Given the description of an element on the screen output the (x, y) to click on. 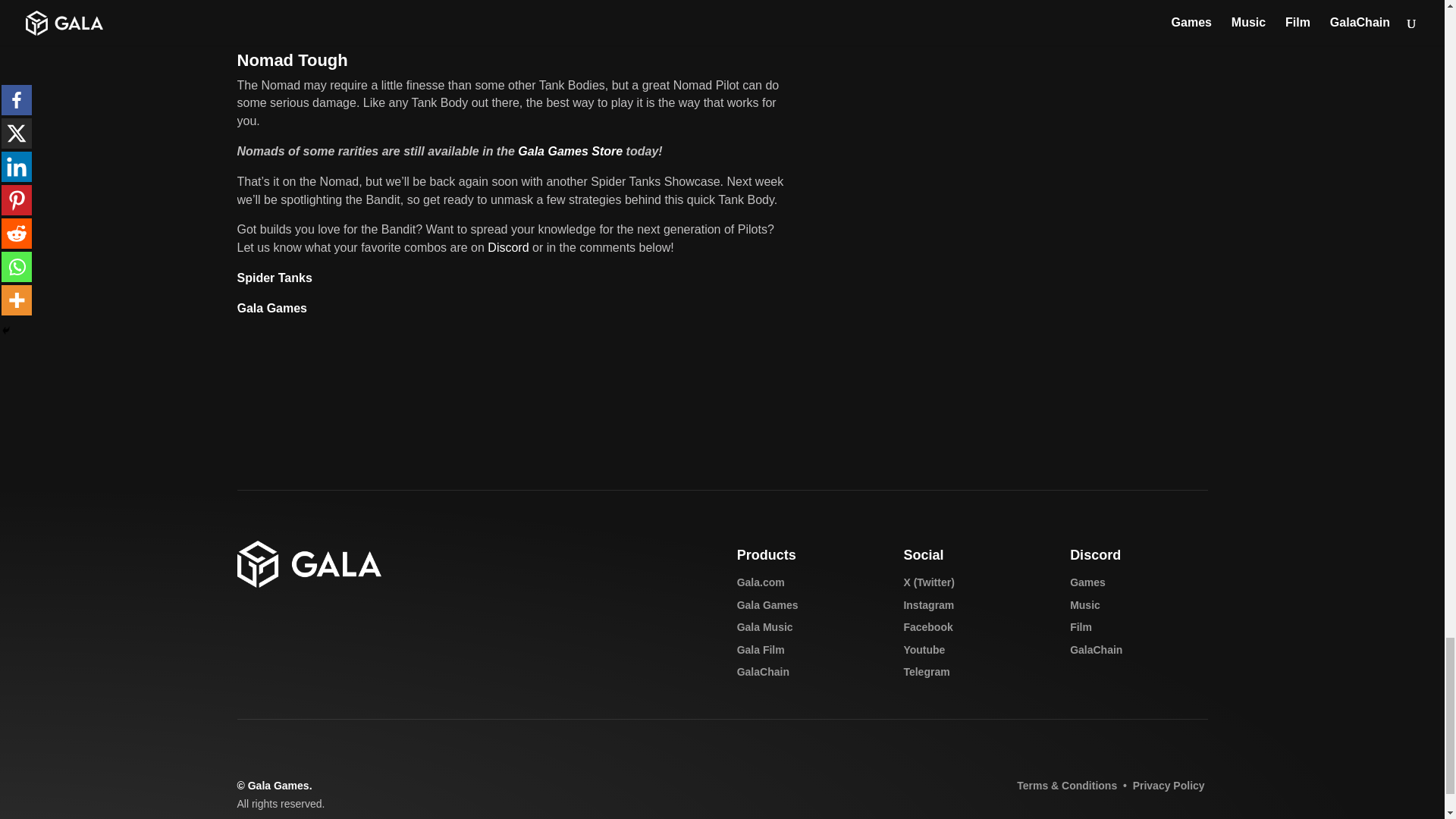
Gala Music (764, 626)
Discord (507, 246)
Gala Film (760, 649)
Gala Games Store (570, 151)
Gala Games (766, 604)
Gala Games (271, 308)
Gala.com (760, 582)
Spider Tanks (273, 277)
